Given the description of an element on the screen output the (x, y) to click on. 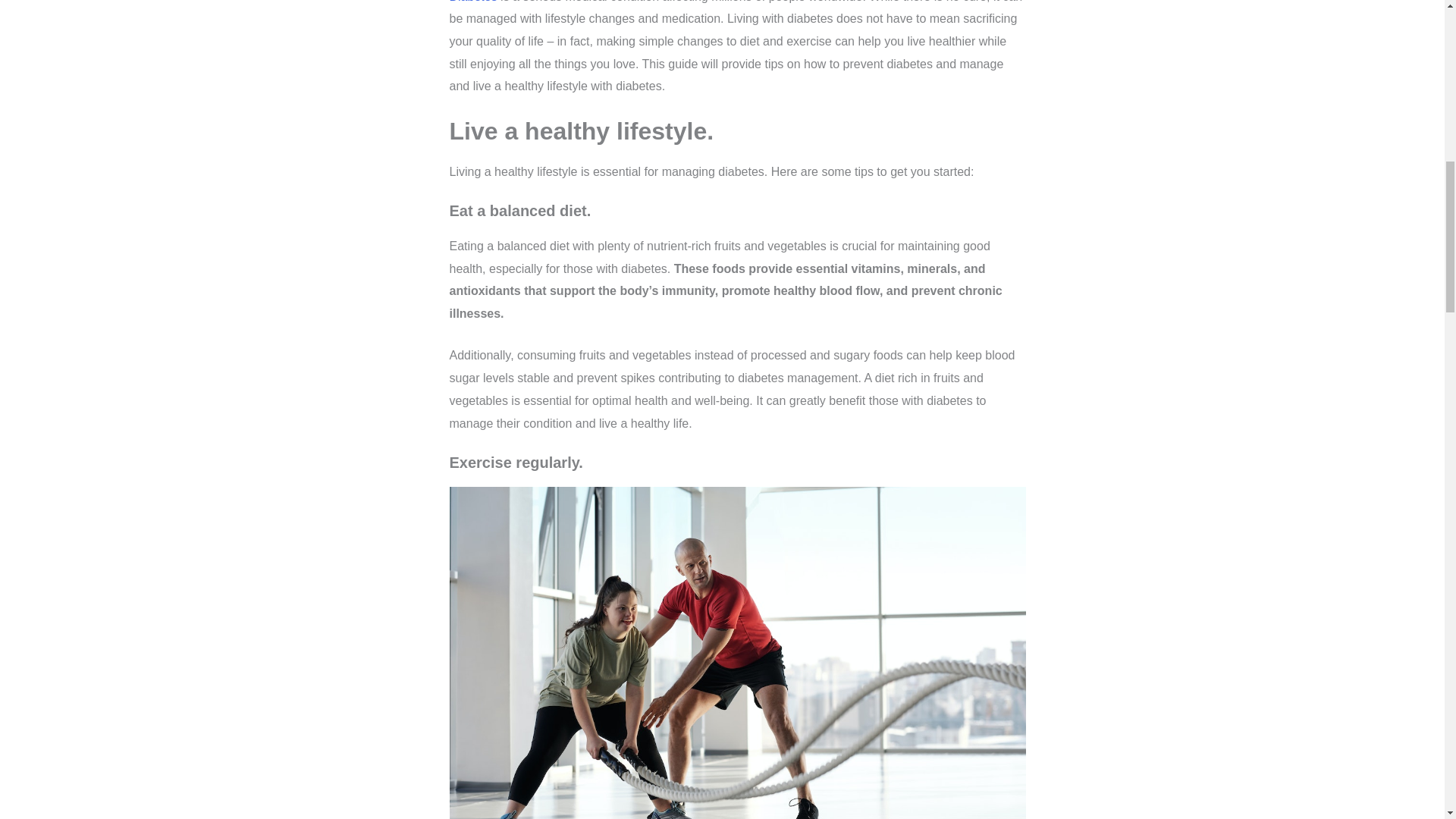
Diabetes (472, 1)
